Given the description of an element on the screen output the (x, y) to click on. 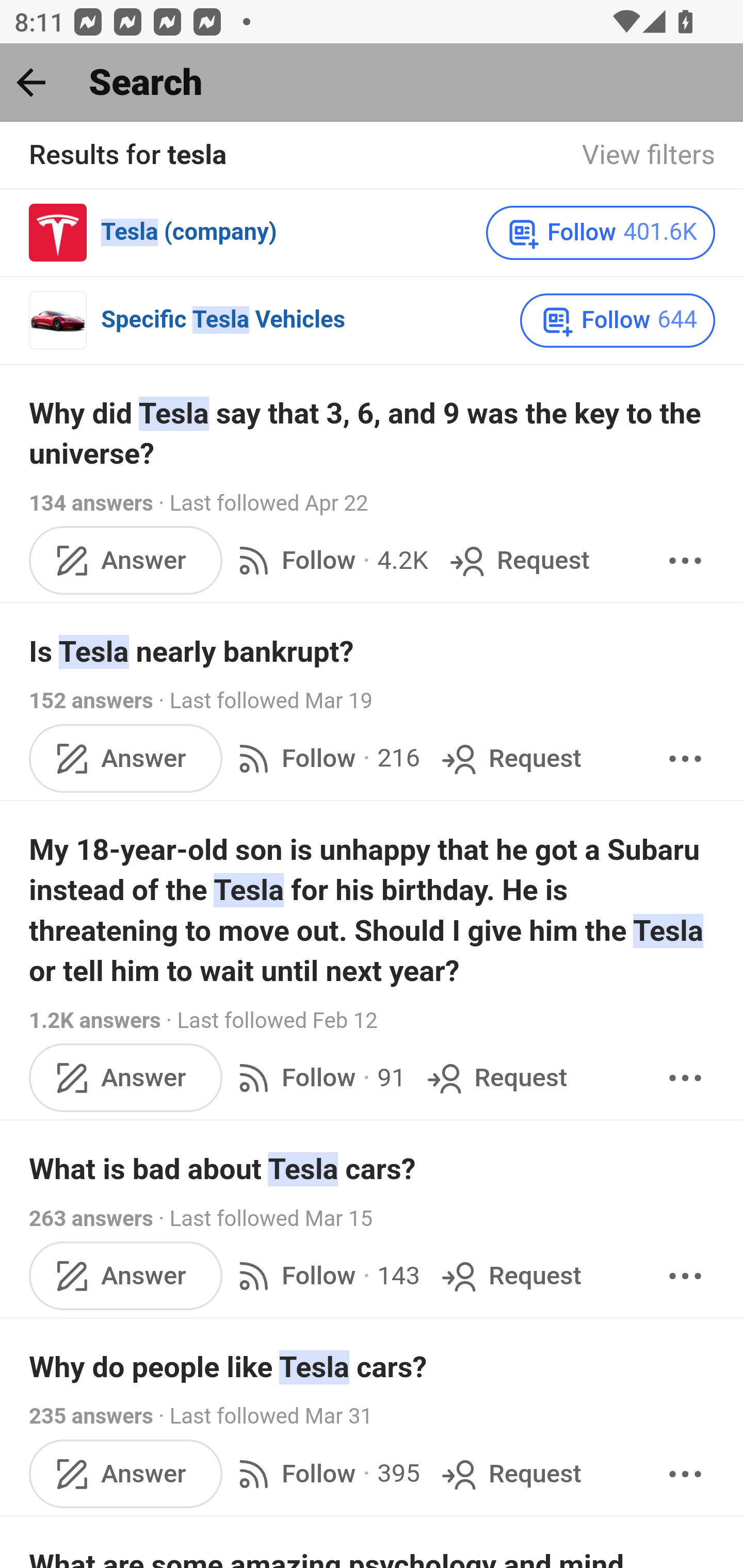
Back Search (371, 82)
Back (30, 82)
View filters (648, 155)
Follow 401.6K (599, 232)
Follow 644 (618, 320)
134 answers 134  answers (90, 503)
Answer (125, 560)
Follow · 4.2K (329, 560)
Request (517, 560)
More (684, 560)
Is Tesla nearly bankrupt? (372, 652)
152 answers 152  answers (90, 701)
Answer (125, 758)
Follow · 216 (324, 758)
Request (509, 758)
More (684, 758)
1.2K answers 1.2K  answers (95, 1020)
Answer (125, 1077)
Follow · 91 (317, 1077)
Request (495, 1077)
More (684, 1077)
What is bad about Tesla cars? (372, 1169)
263 answers 263  answers (90, 1218)
Answer (125, 1275)
Follow · 143 (324, 1275)
Request (509, 1275)
More (684, 1275)
Why do people like Tesla cars? (372, 1367)
235 answers 235  answers (90, 1416)
Answer (125, 1474)
Follow · 395 (324, 1474)
Request (509, 1474)
More (684, 1474)
